Given the description of an element on the screen output the (x, y) to click on. 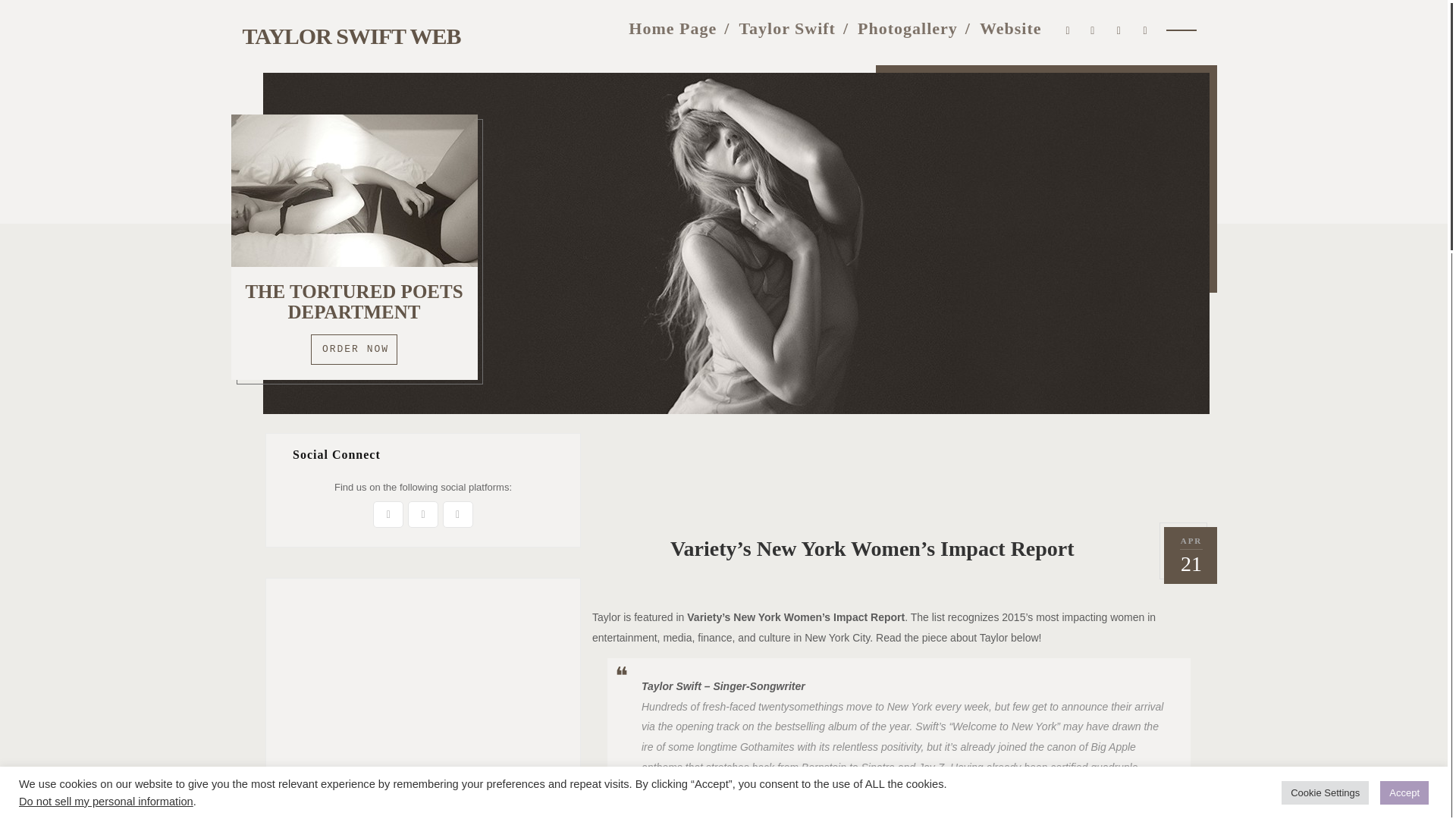
Tiktok (1144, 27)
Twitter (387, 514)
Advertisement (898, 467)
Home Page (672, 27)
Instagram (422, 514)
Website (1010, 27)
Instagram (1092, 27)
ORDER NOW (354, 349)
Tumblr (1119, 27)
Taylor Swift (786, 27)
Photogallery (907, 27)
Tumblr (457, 514)
Twitter (1068, 27)
Advertisement (422, 698)
